Given the description of an element on the screen output the (x, y) to click on. 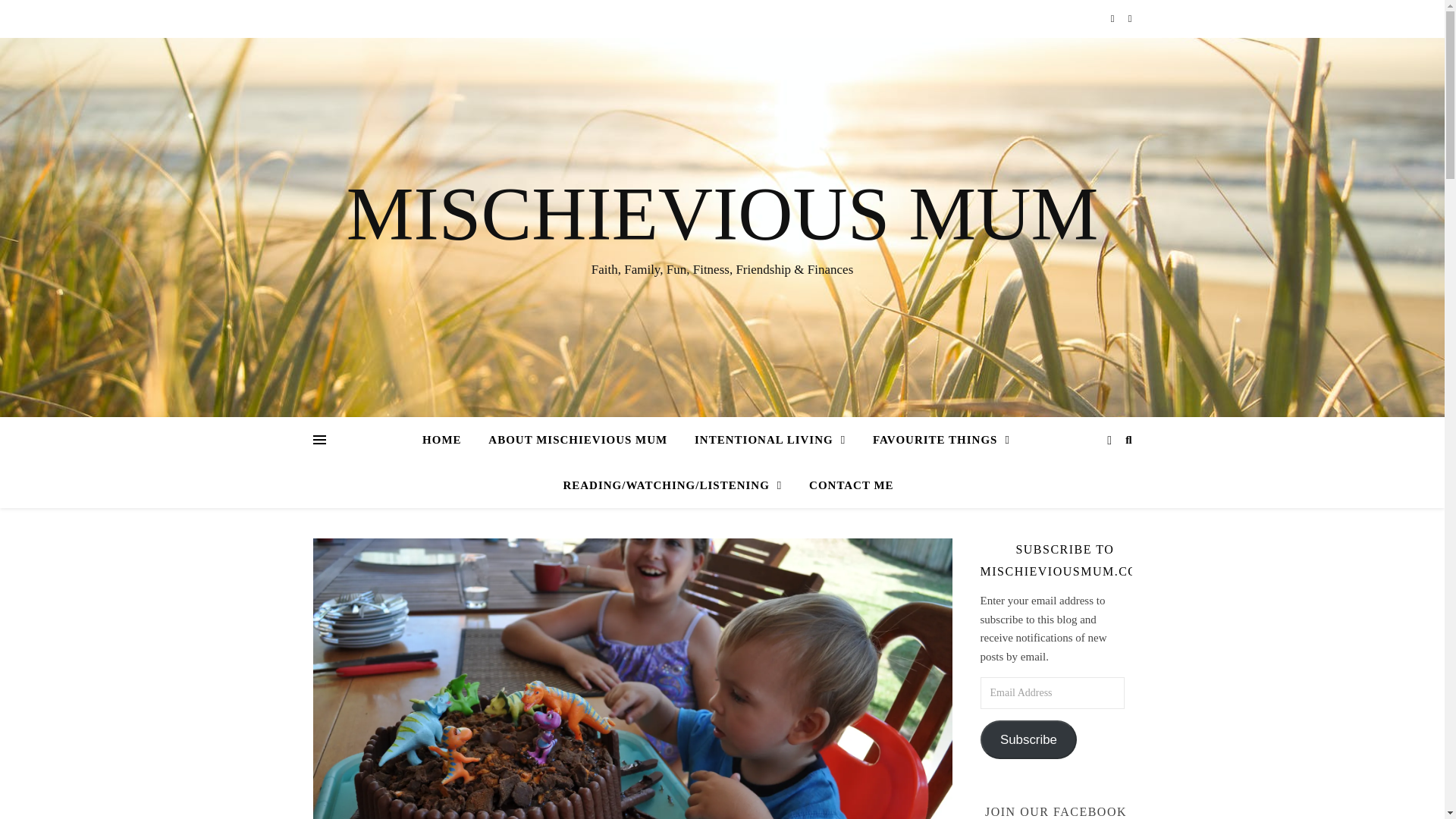
CONTACT ME (844, 484)
INTENTIONAL LIVING (769, 439)
FAVOURITE THINGS (941, 439)
ABOUT MISCHIEVIOUS MUM (577, 439)
HOME (448, 439)
